Given the description of an element on the screen output the (x, y) to click on. 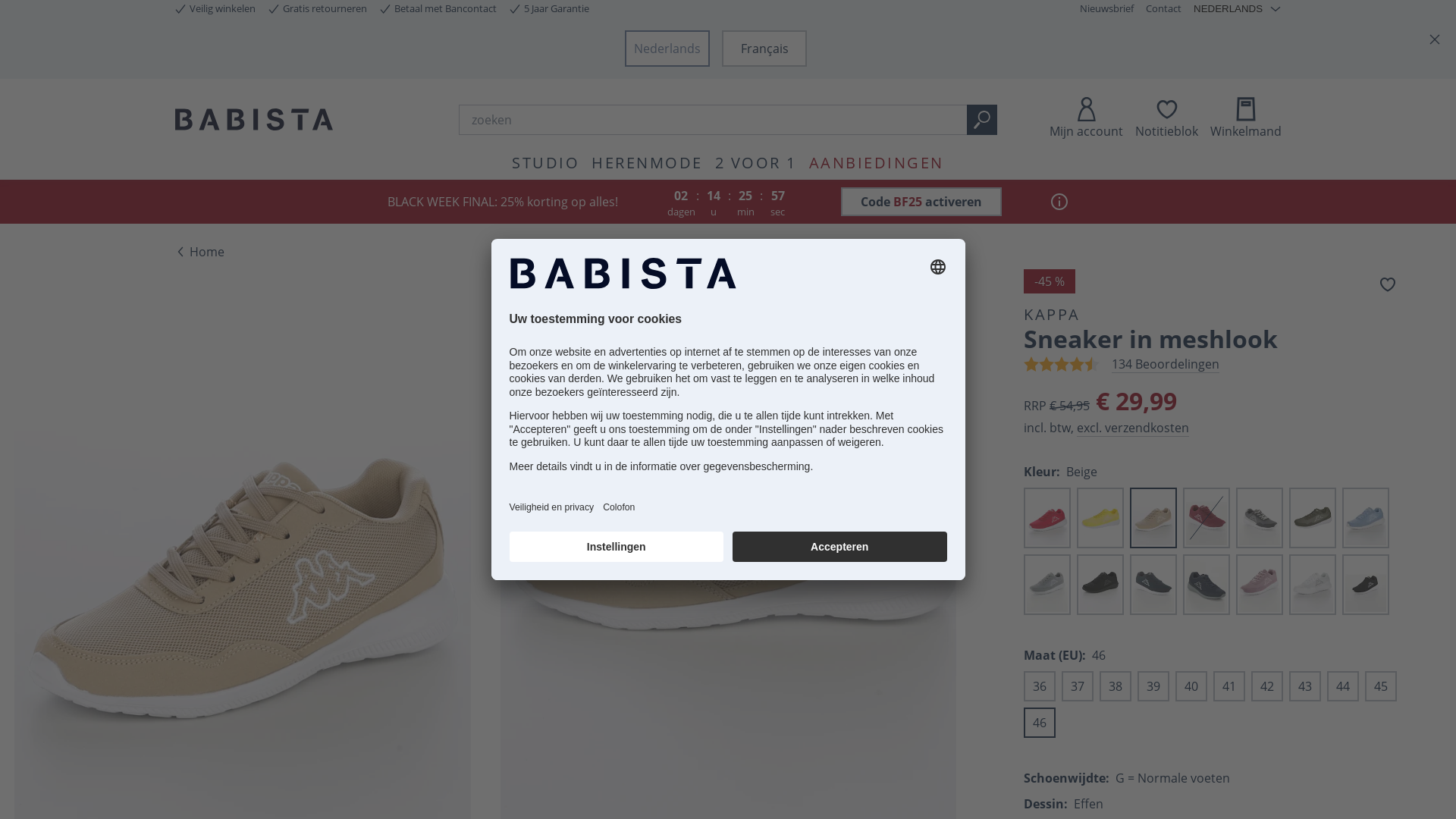
Code 
BF25
 activeren Element type: text (920, 201)
42 Element type: text (1266, 685)
AANBIEDINGEN Element type: text (876, 162)
HERENMODE Element type: text (646, 162)
43 Element type: text (1304, 685)
Winkelmand Element type: text (1245, 119)
36 Element type: text (1039, 685)
Nederlands Element type: text (666, 48)
Beige Element type: hover (1153, 517)
Lichtgrijs/Grijs Element type: hover (1100, 584)
Kaki Element type: hover (1312, 517)
Notitieblok Element type: text (1166, 119)
Marine Element type: hover (1153, 584)
Geel Element type: hover (1100, 517)
Rood Element type: hover (1047, 517)
Lichtblauw Element type: hover (1365, 517)
38 Element type: text (1115, 685)
44 Element type: text (1342, 685)
excl. verzendkosten Element type: text (1132, 427)
Home Element type: text (199, 251)
41 Element type: text (1228, 685)
Lichtgrijs Element type: hover (1047, 584)
45 Element type: text (1380, 685)
2 VOOR 1 Element type: text (756, 162)
46 Element type: text (1039, 722)
Wit Element type: hover (1312, 584)
Donkergrijs/Beige Element type: hover (1259, 517)
Bordeaux Element type: hover (1206, 517)
Contact Element type: text (1163, 8)
Mijn account Element type: text (1086, 119)
39 Element type: text (1153, 685)
Roze/Wit Element type: hover (1259, 584)
Op het notitieblok Element type: hover (1387, 284)
Zwart Element type: hover (1365, 584)
Nachtblauw/Grijs Element type: hover (1206, 584)
STUDIO Element type: text (545, 162)
Nieuwsbrief Element type: text (1106, 8)
134 Beoordelingen Element type: text (1165, 363)
40 Element type: text (1190, 685)
37 Element type: text (1077, 685)
